Given the description of an element on the screen output the (x, y) to click on. 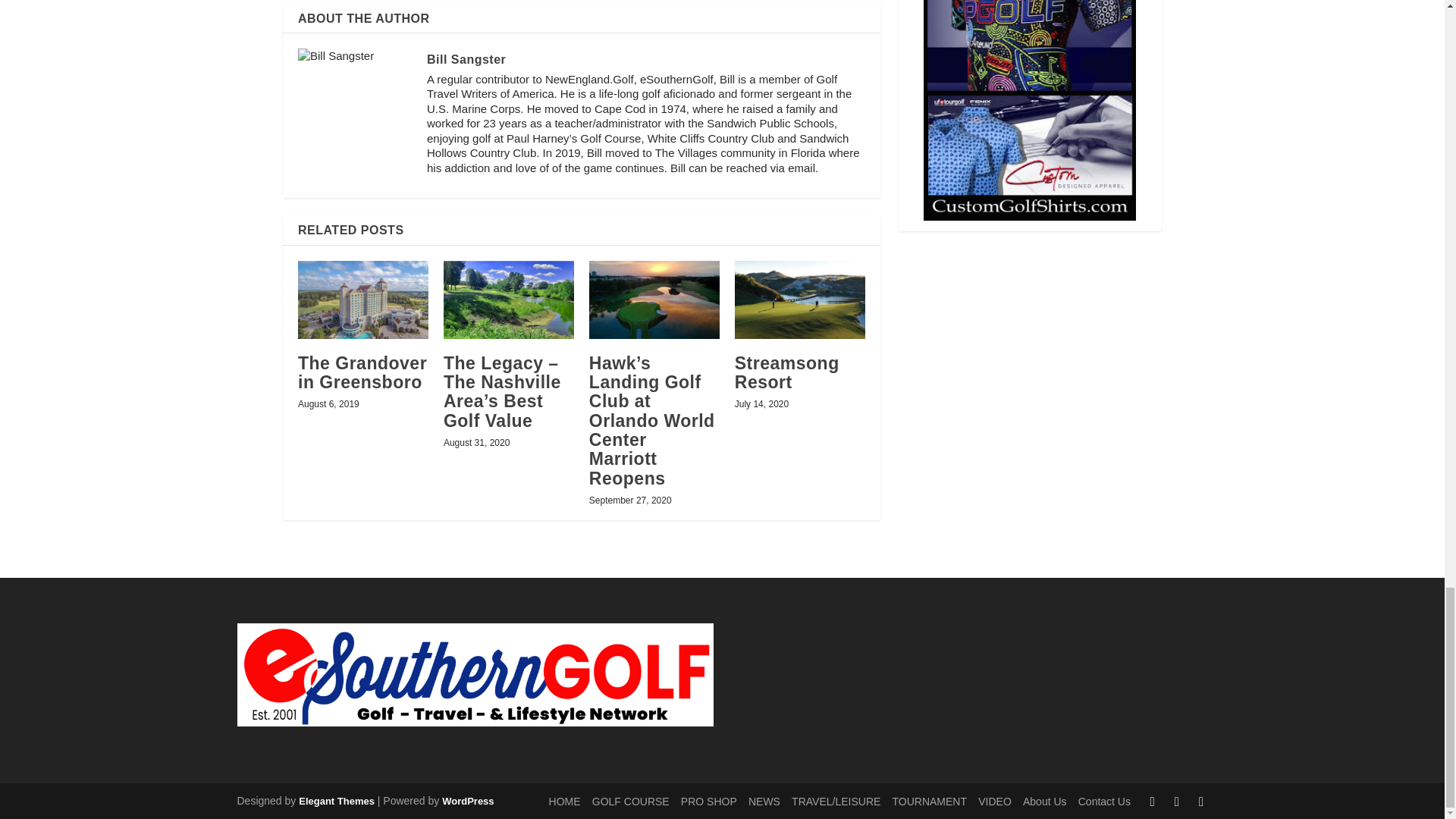
View all posts by Bill Sangster (465, 59)
Streamsong Resort (799, 300)
Premium WordPress Themes (336, 800)
The Grandover in Greensboro (363, 300)
